Given the description of an element on the screen output the (x, y) to click on. 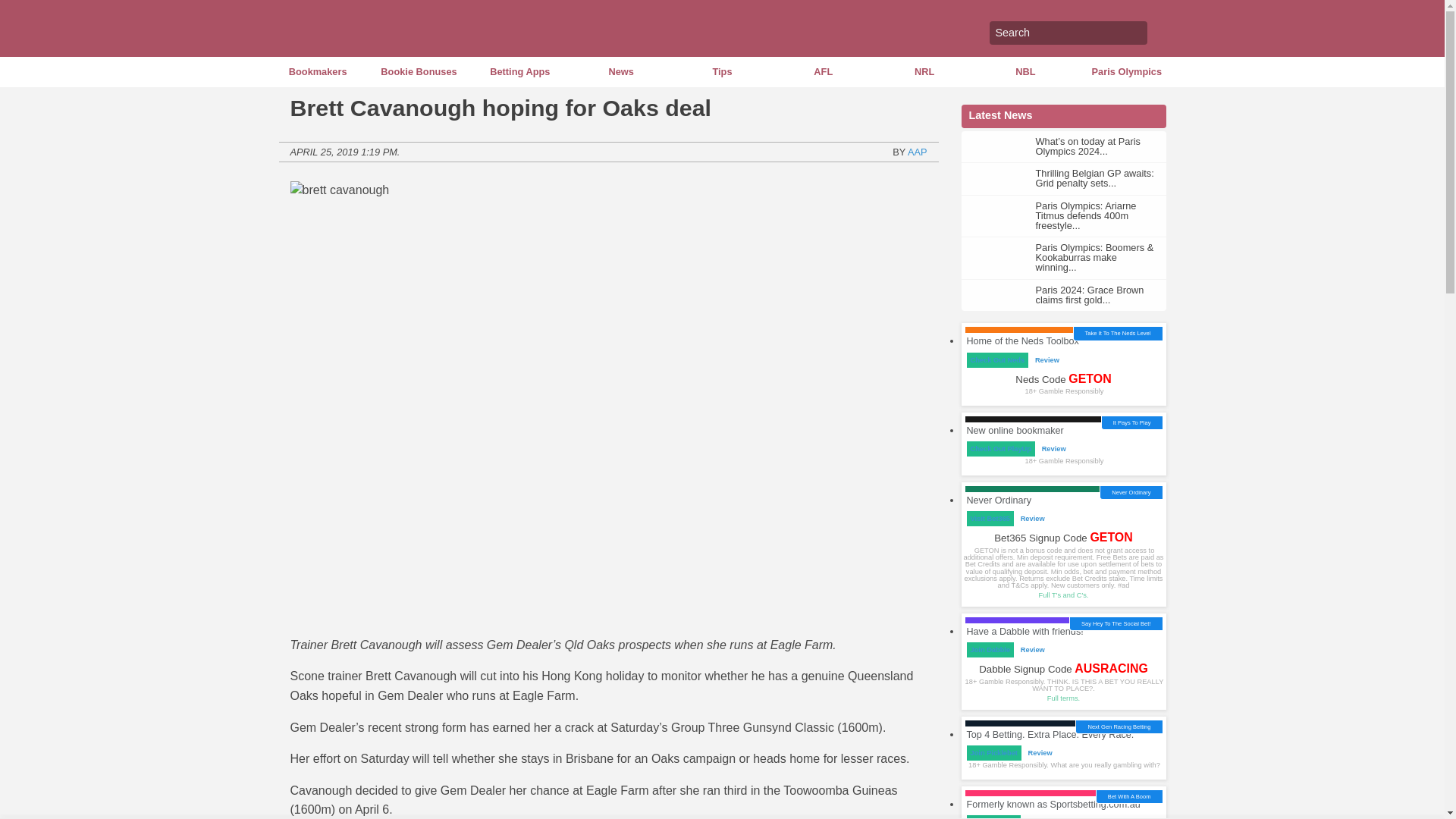
Bookie bonuses (418, 71)
NBL (1025, 71)
AFL (823, 71)
Tips (722, 71)
Tips (722, 71)
Paris Olympics (1125, 71)
News (620, 71)
Bookmakers (317, 71)
AAP (917, 152)
Paris Olympics (1125, 71)
Betting Apps (519, 71)
Bookmakers (317, 71)
News (620, 71)
NBL (1025, 71)
Betting Apps (519, 71)
